Given the description of an element on the screen output the (x, y) to click on. 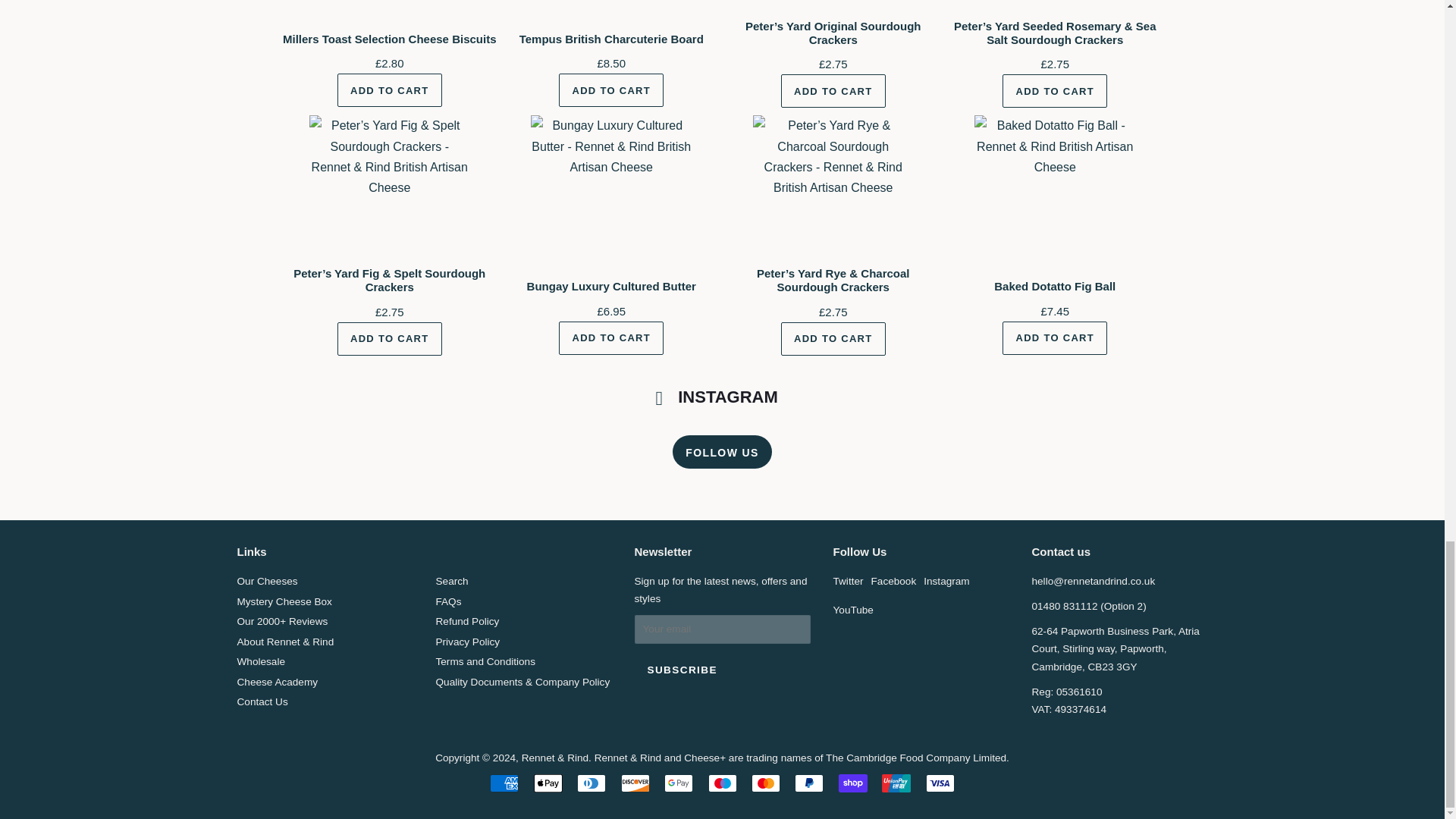
Diners Club (590, 782)
Mastercard (765, 782)
Discover (635, 782)
Google Pay (678, 782)
Maestro (721, 782)
Visa (940, 782)
Call Rennet and Rind (1063, 605)
Shop Pay (852, 782)
Subscribe (681, 670)
Apple Pay (548, 782)
